Given the description of an element on the screen output the (x, y) to click on. 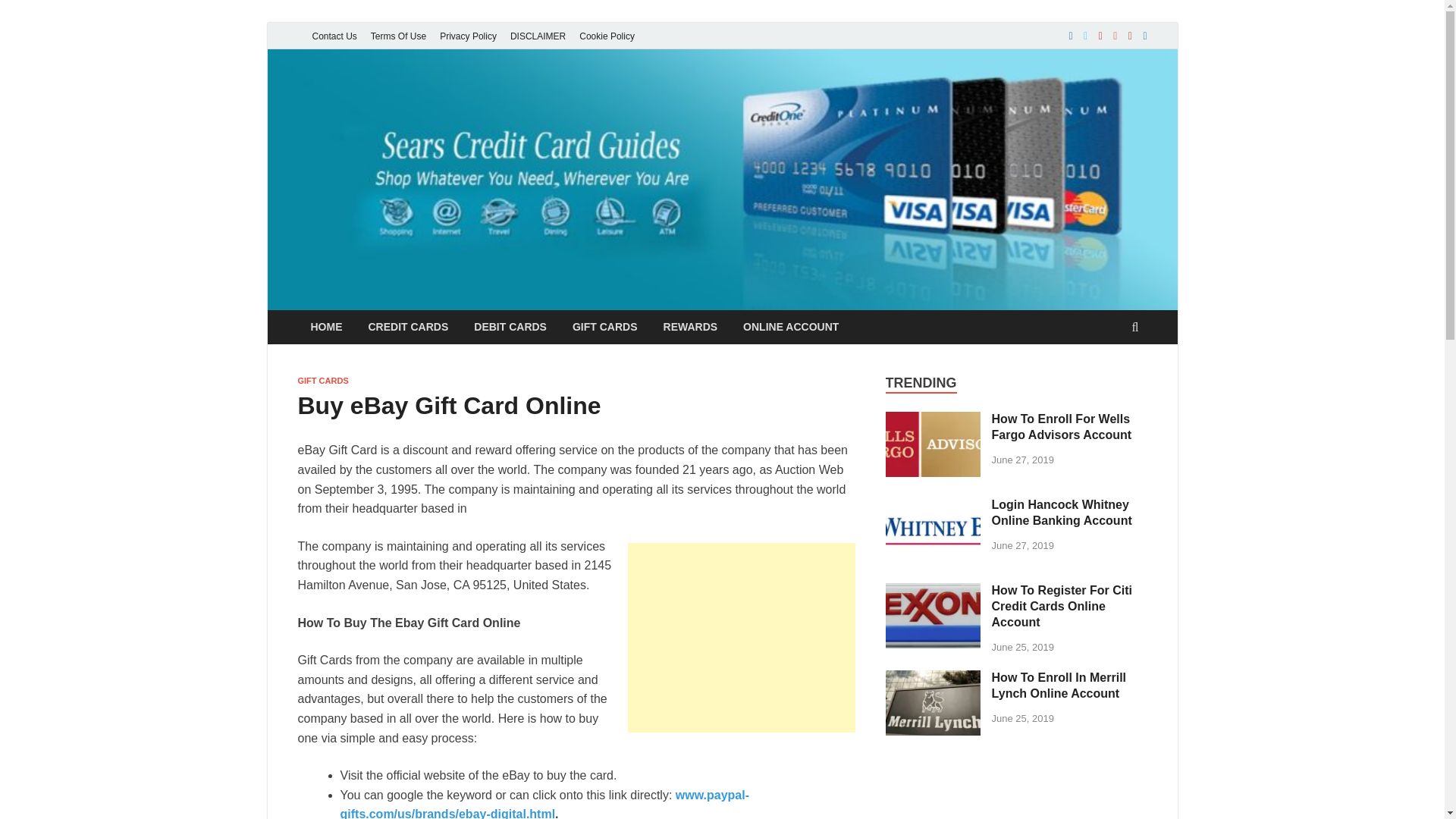
HOME (326, 326)
ONLINE ACCOUNT (790, 326)
Contact Us (333, 35)
Login Hancock Whitney Online Banking Account (932, 558)
Advertisement (741, 637)
DEBIT CARDS (510, 326)
GIFT CARDS (322, 379)
REWARDS (690, 326)
GIFT CARDS (604, 326)
DISCLAIMER (537, 35)
